Given the description of an element on the screen output the (x, y) to click on. 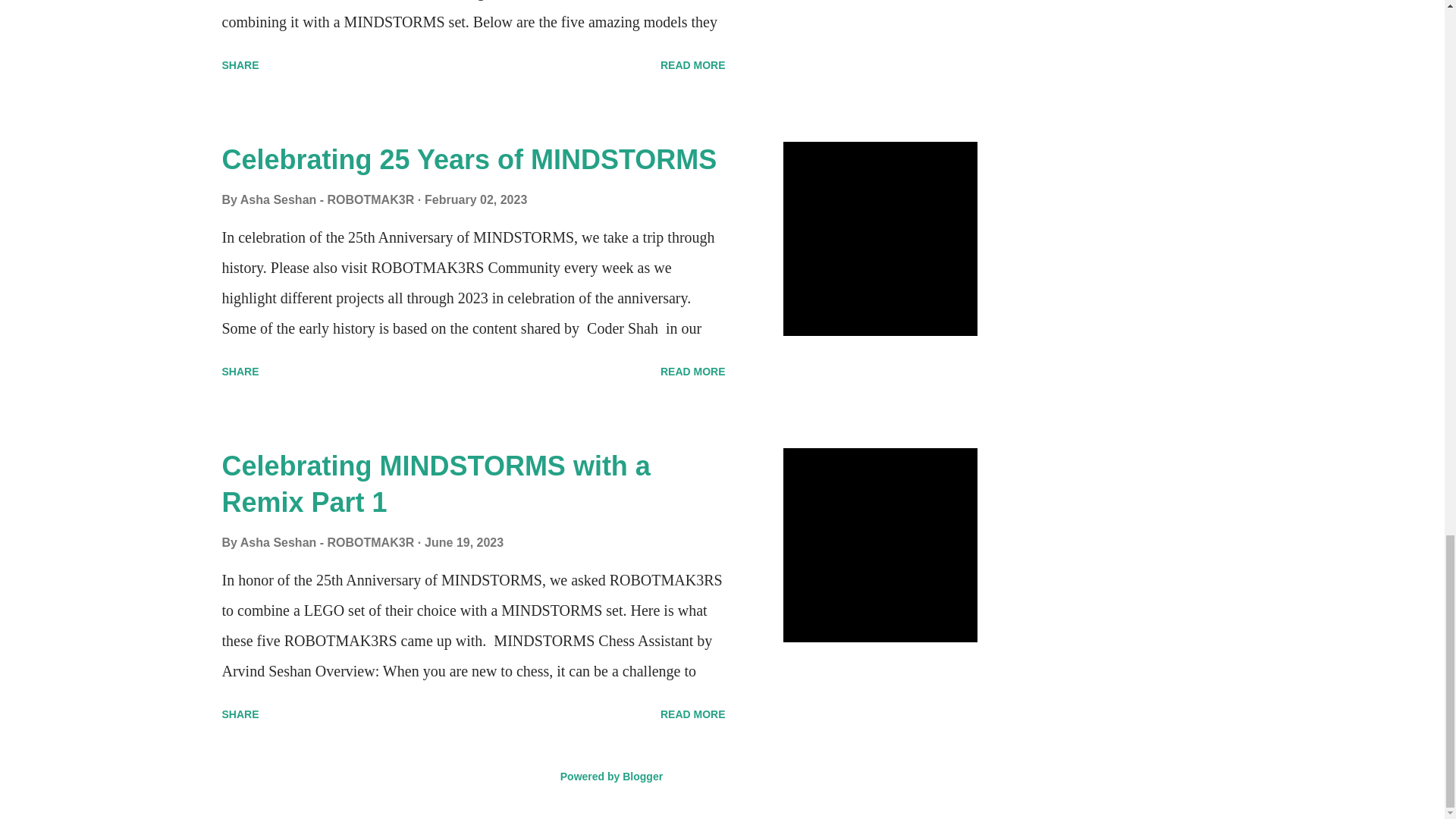
February 02, 2023 (476, 199)
SHARE (239, 371)
SHARE (239, 64)
Celebrating 25 Years of MINDSTORMS (468, 159)
June 19, 2023 (464, 542)
READ MORE (692, 371)
READ MORE (692, 64)
Celebrating MINDSTORMS with a Remix Part 1 (435, 483)
